Given the description of an element on the screen output the (x, y) to click on. 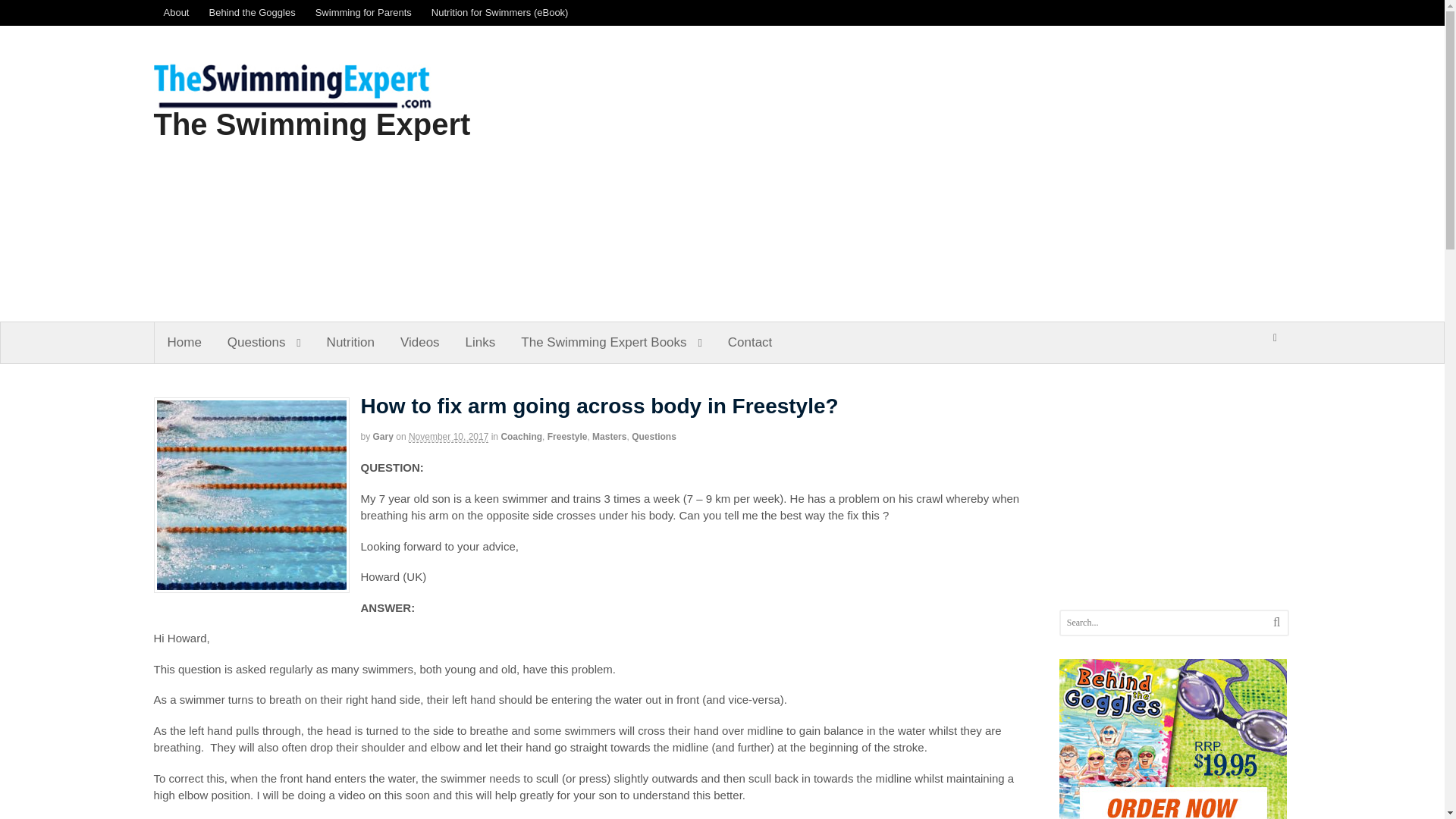
Contact (750, 342)
Search... (1163, 622)
Freestyle (567, 436)
Home (184, 342)
Questions (654, 436)
View your shopping cart (1274, 337)
Links (480, 342)
View all items in Coaching (520, 436)
View all items in Questions (654, 436)
Nutrition (350, 342)
